Given the description of an element on the screen output the (x, y) to click on. 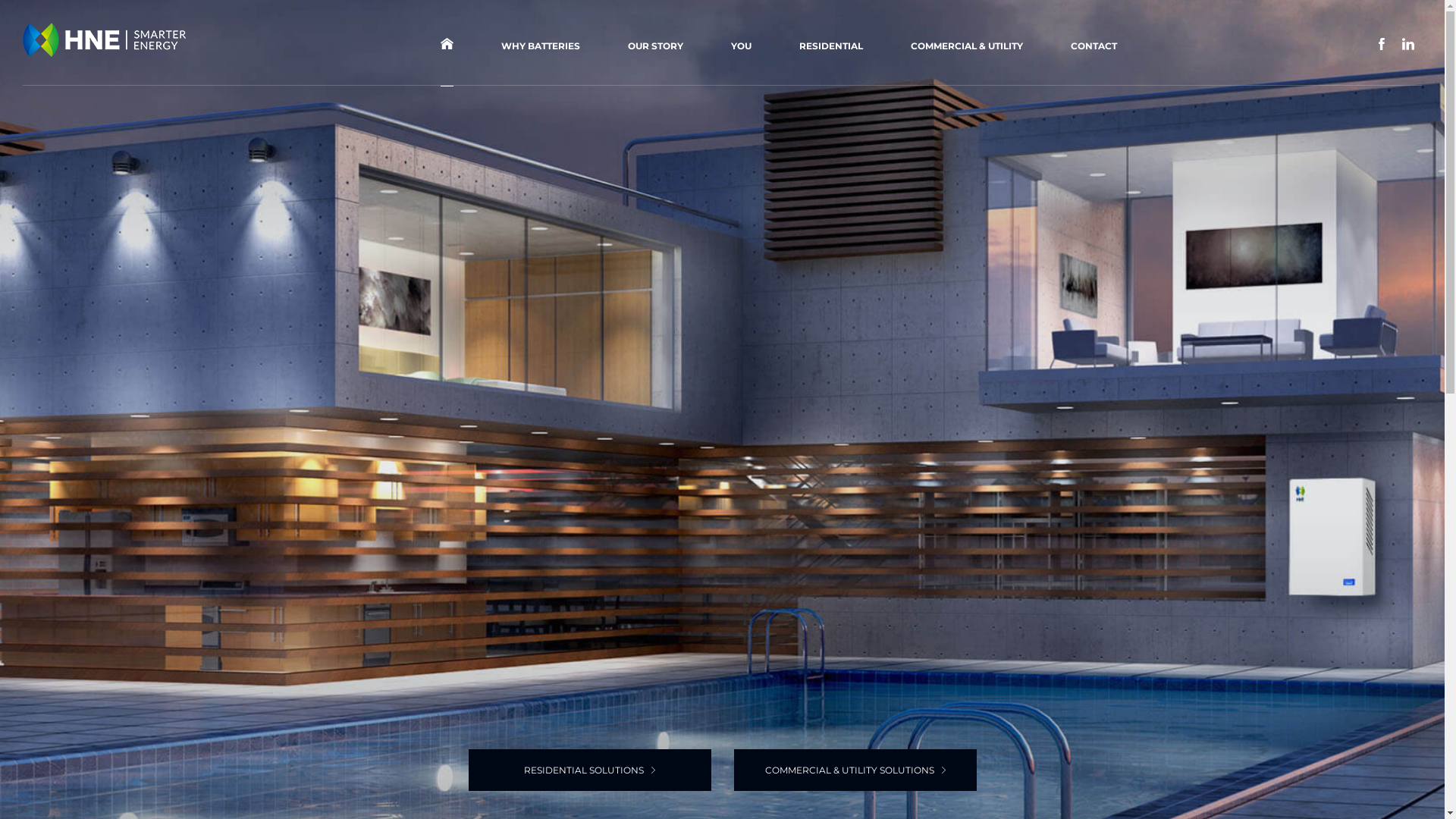
COMMERCIAL & UTILITY SOLUTIONS Element type: text (855, 769)
OUR STORY Element type: text (655, 44)
RESIDENTIAL SOLUTIONS Element type: text (589, 769)
COMMERCIAL & UTILITY Element type: text (966, 44)
WHY BATTERIES Element type: text (539, 44)
CONTACT Element type: text (1093, 44)
RESIDENTIAL Element type: text (830, 44)
YOU Element type: text (741, 44)
